Given the description of an element on the screen output the (x, y) to click on. 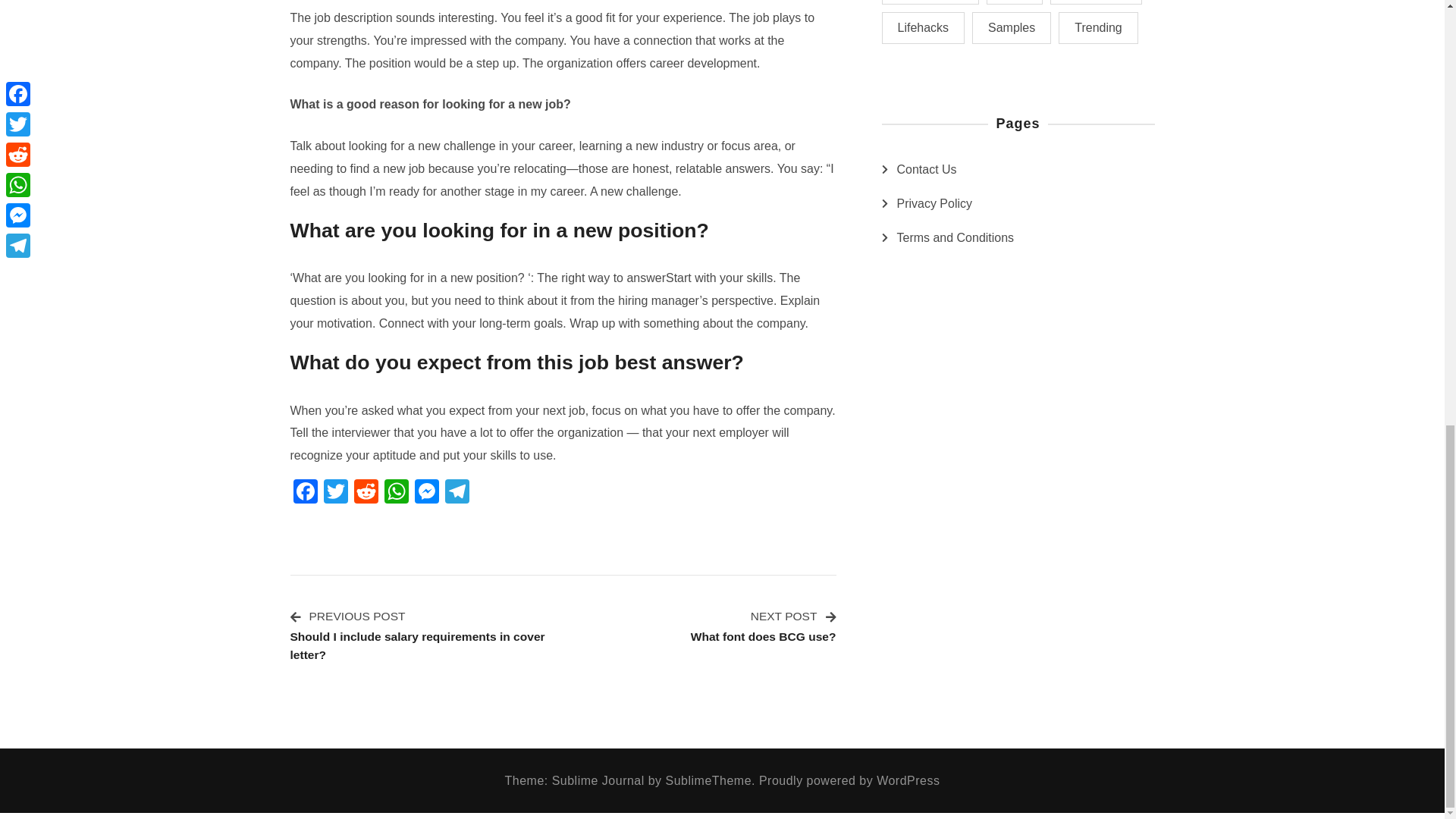
Telegram (456, 492)
Reddit (365, 492)
Twitter (335, 492)
Messenger (425, 492)
Contributing (929, 2)
Lifehacks (921, 28)
Messenger (425, 492)
WhatsApp (395, 492)
FAQ (1014, 2)
Facebook (304, 492)
Twitter (335, 492)
WhatsApp (395, 492)
Trending (762, 625)
Samples (1098, 28)
